Given the description of an element on the screen output the (x, y) to click on. 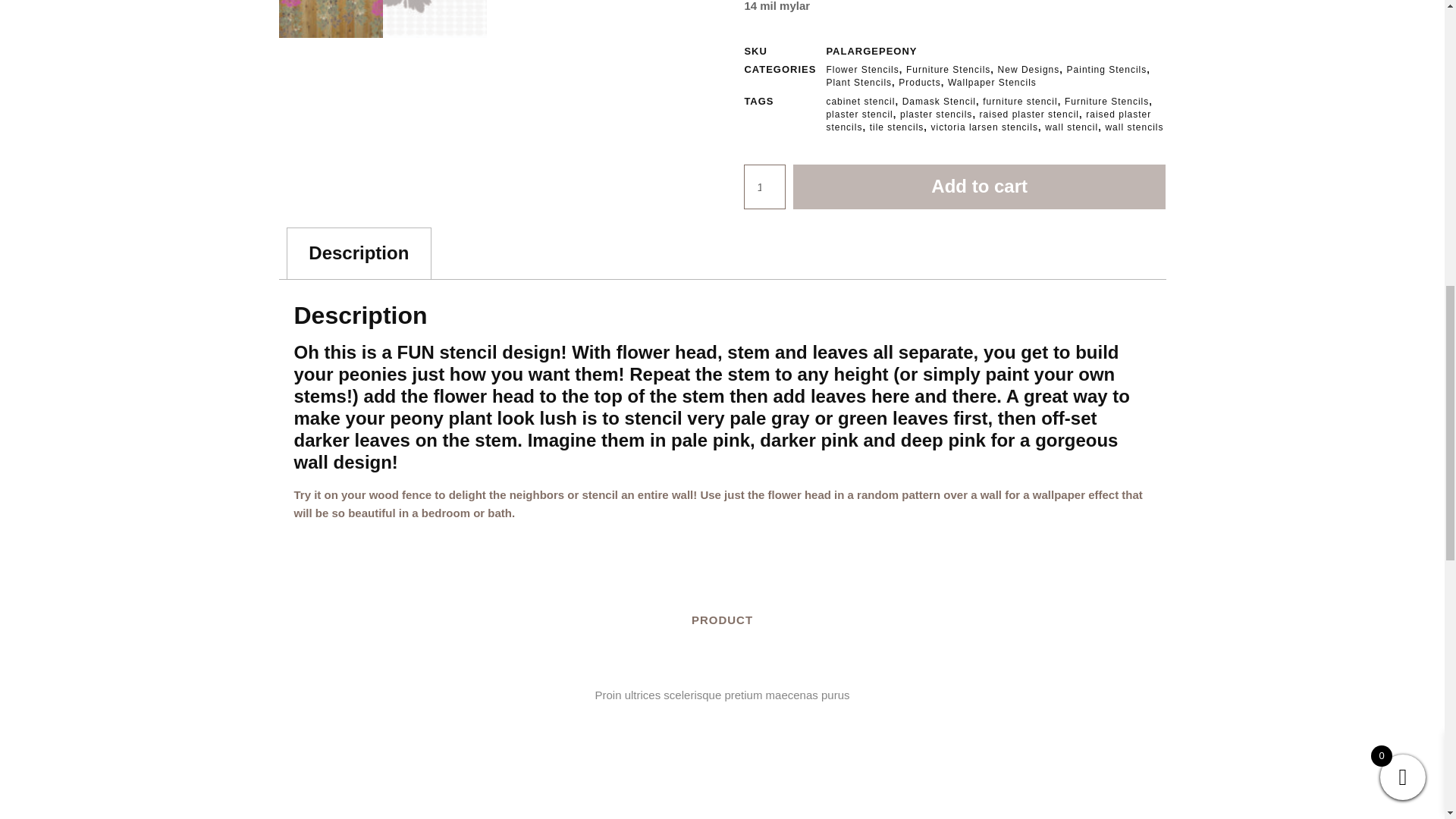
Damask Stencil (938, 101)
1 (764, 186)
Description (358, 253)
raised plaster stencils (988, 120)
furniture stencil (1019, 101)
Products (919, 81)
Furniture Stencils (1106, 101)
New Designs (1028, 69)
wall stencil (1071, 127)
tile stencils (896, 127)
plaster stencil (858, 113)
Furniture Stencils (947, 69)
Wallpaper Stencils (991, 81)
Flower Stencils (861, 69)
Painting Stencils (1107, 69)
